Given the description of an element on the screen output the (x, y) to click on. 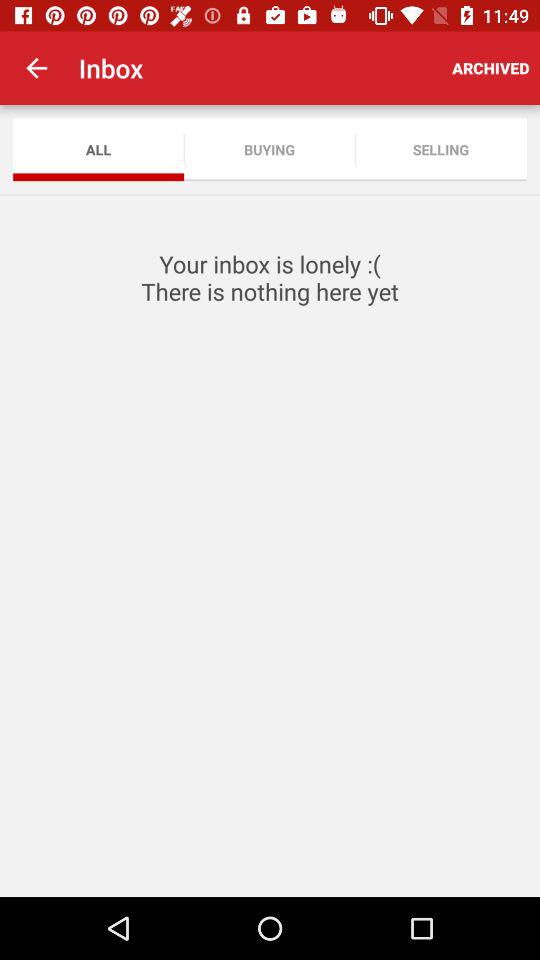
click app to the left of the buying item (98, 149)
